Given the description of an element on the screen output the (x, y) to click on. 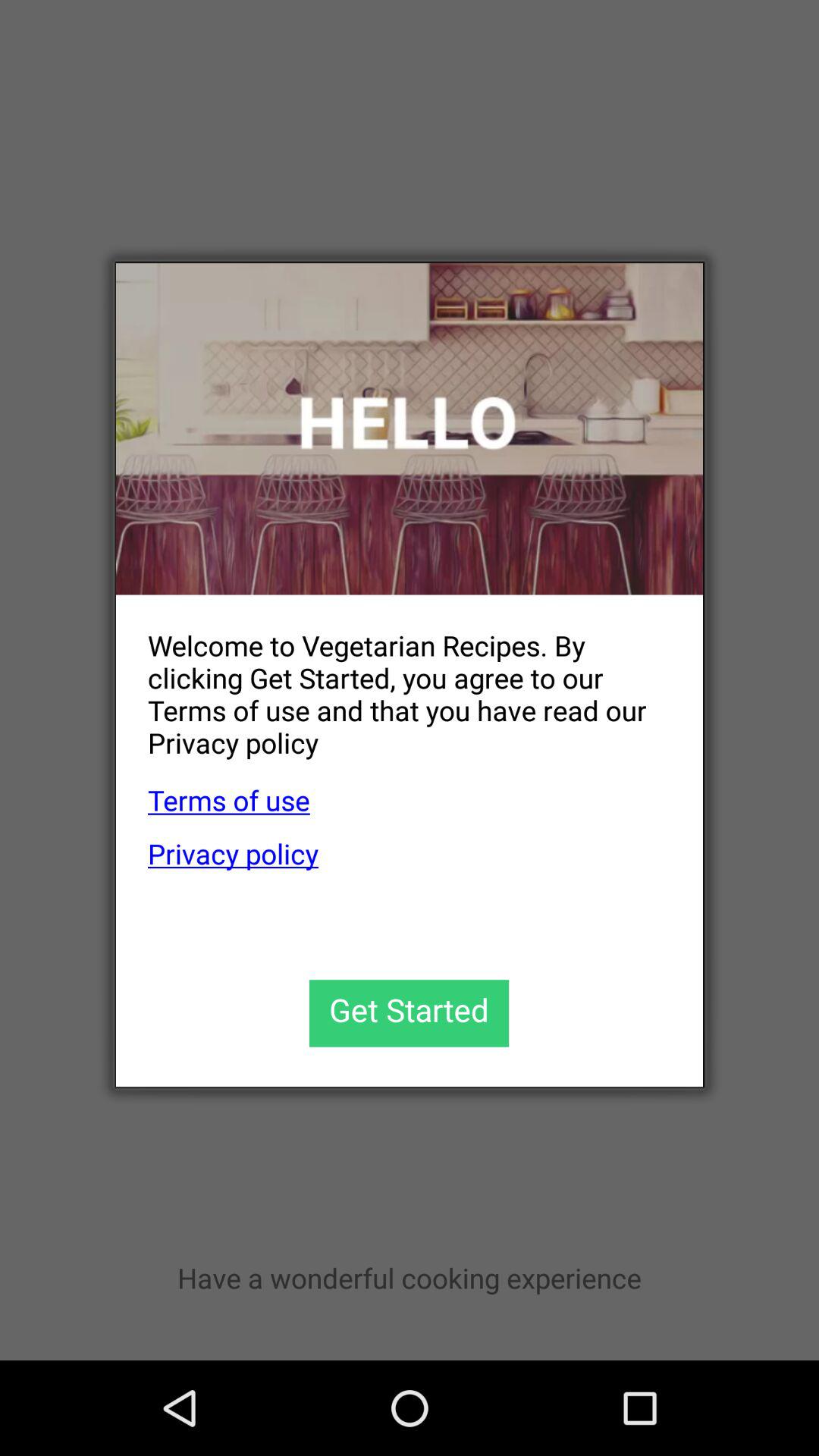
tap item at the top (409, 428)
